Given the description of an element on the screen output the (x, y) to click on. 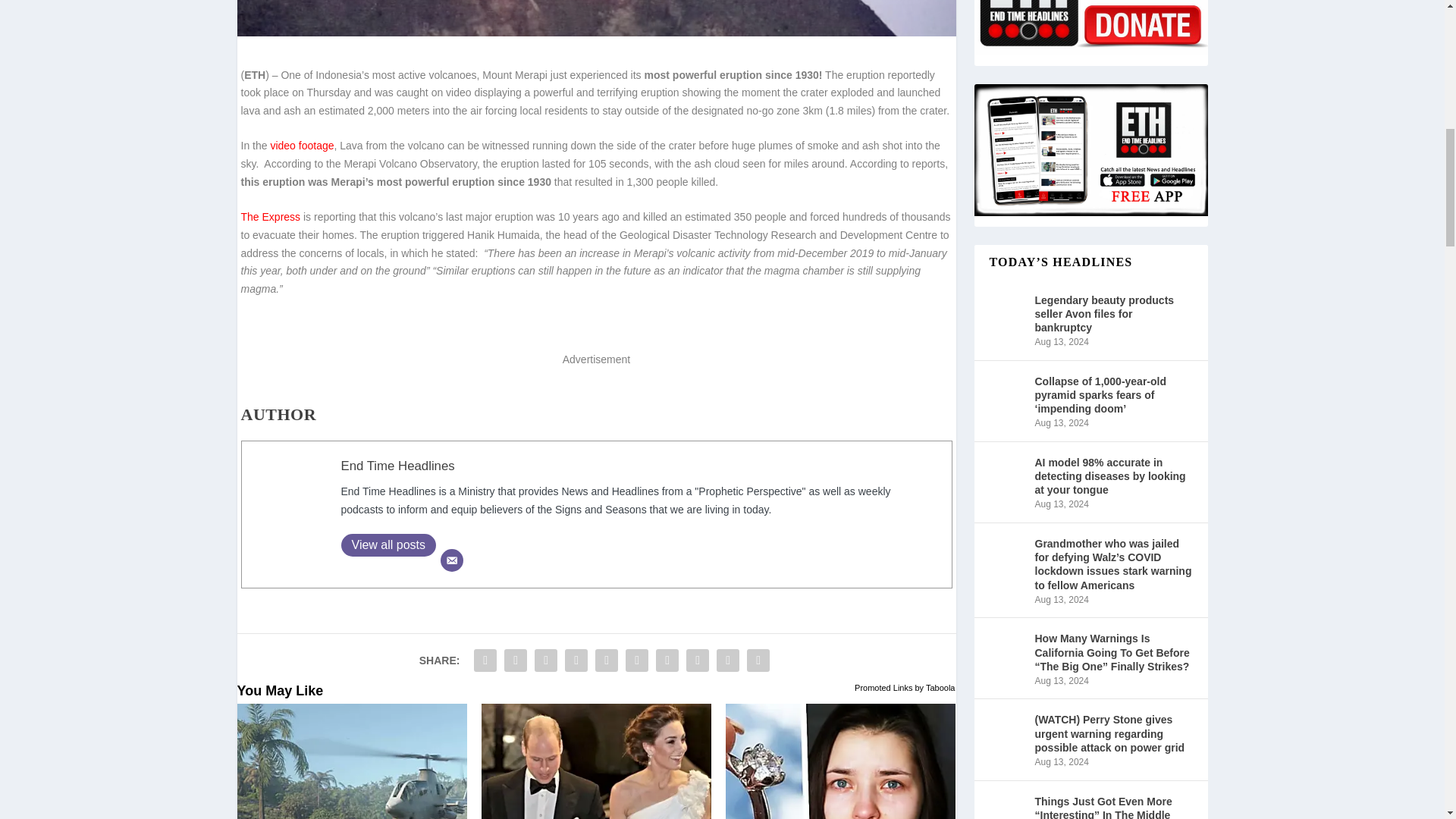
End Time Headlines (397, 465)
View all posts (388, 544)
